Given the description of an element on the screen output the (x, y) to click on. 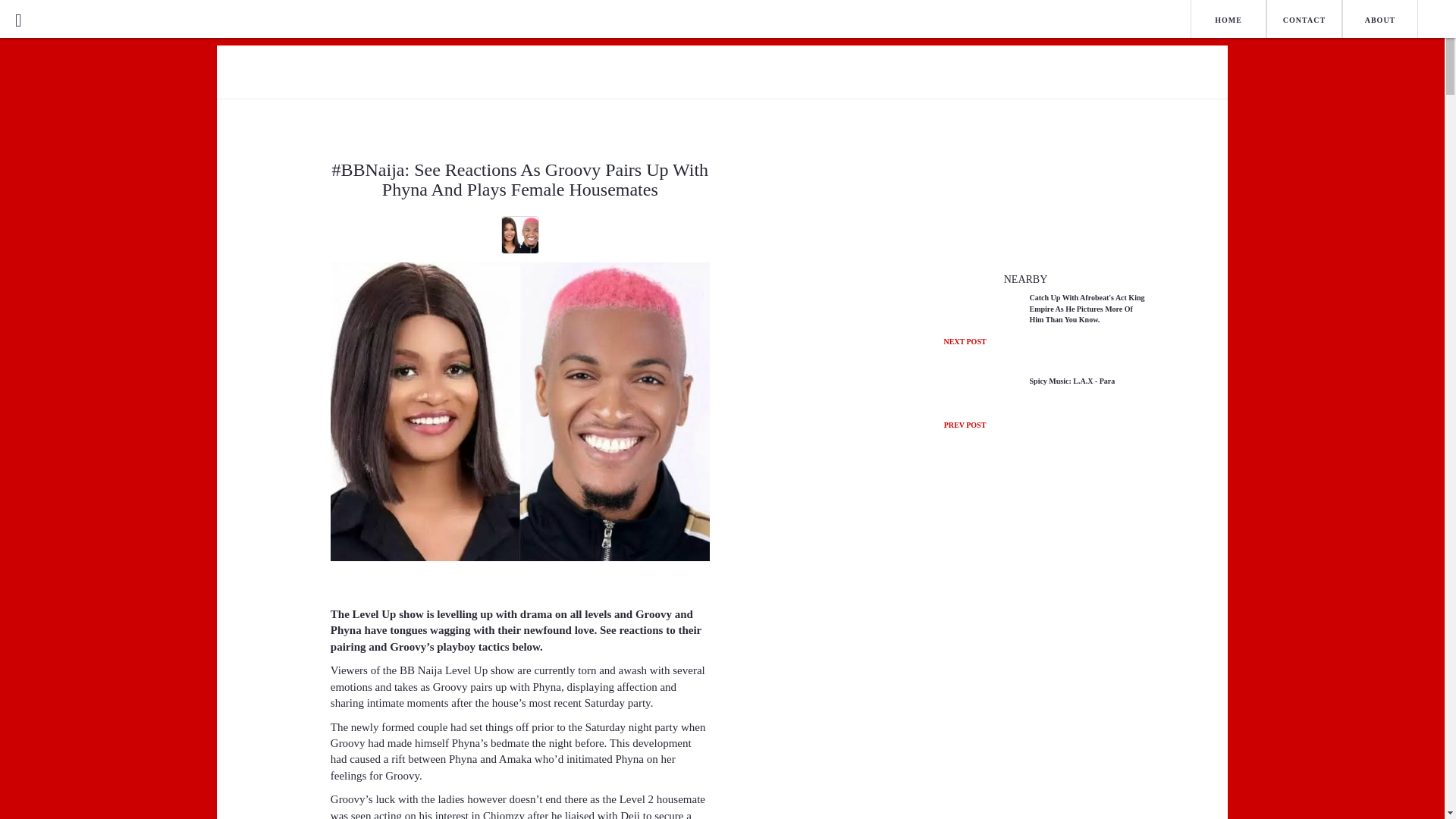
CONTACT (1304, 18)
HOME (1025, 417)
ABOUT (1228, 18)
HOME (1380, 18)
CONTACT (1228, 19)
ABOUT (1304, 19)
